Given the description of an element on the screen output the (x, y) to click on. 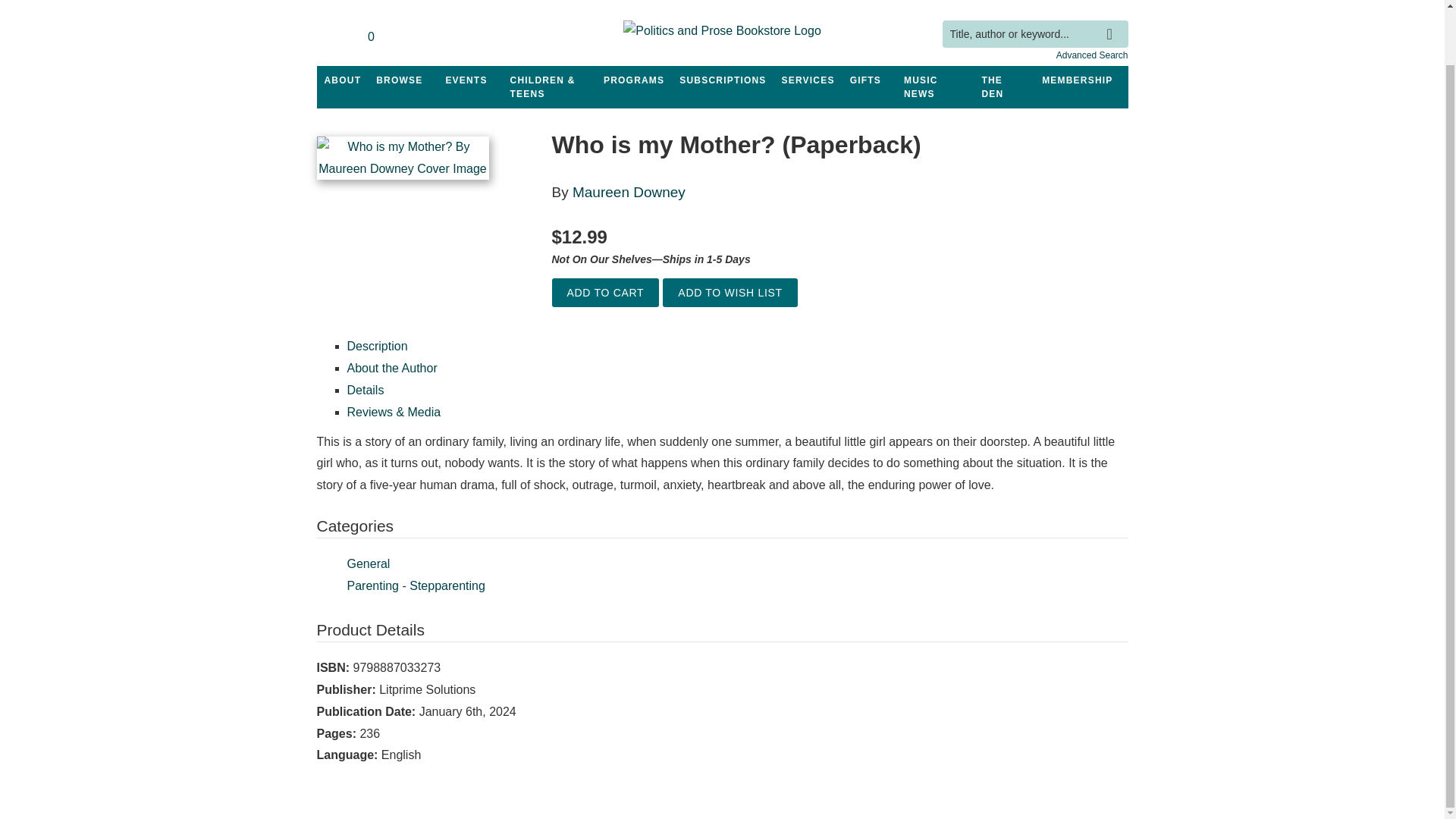
Add to Cart (605, 292)
Home (722, 33)
EVENTS (465, 80)
SERVICES (808, 80)
ABOUT (343, 80)
Children and Teens Department (548, 87)
Add to Wish List (729, 292)
Title, author or keyword... (1034, 34)
See information about our programs (633, 80)
Browse our shelves (398, 80)
